Given the description of an element on the screen output the (x, y) to click on. 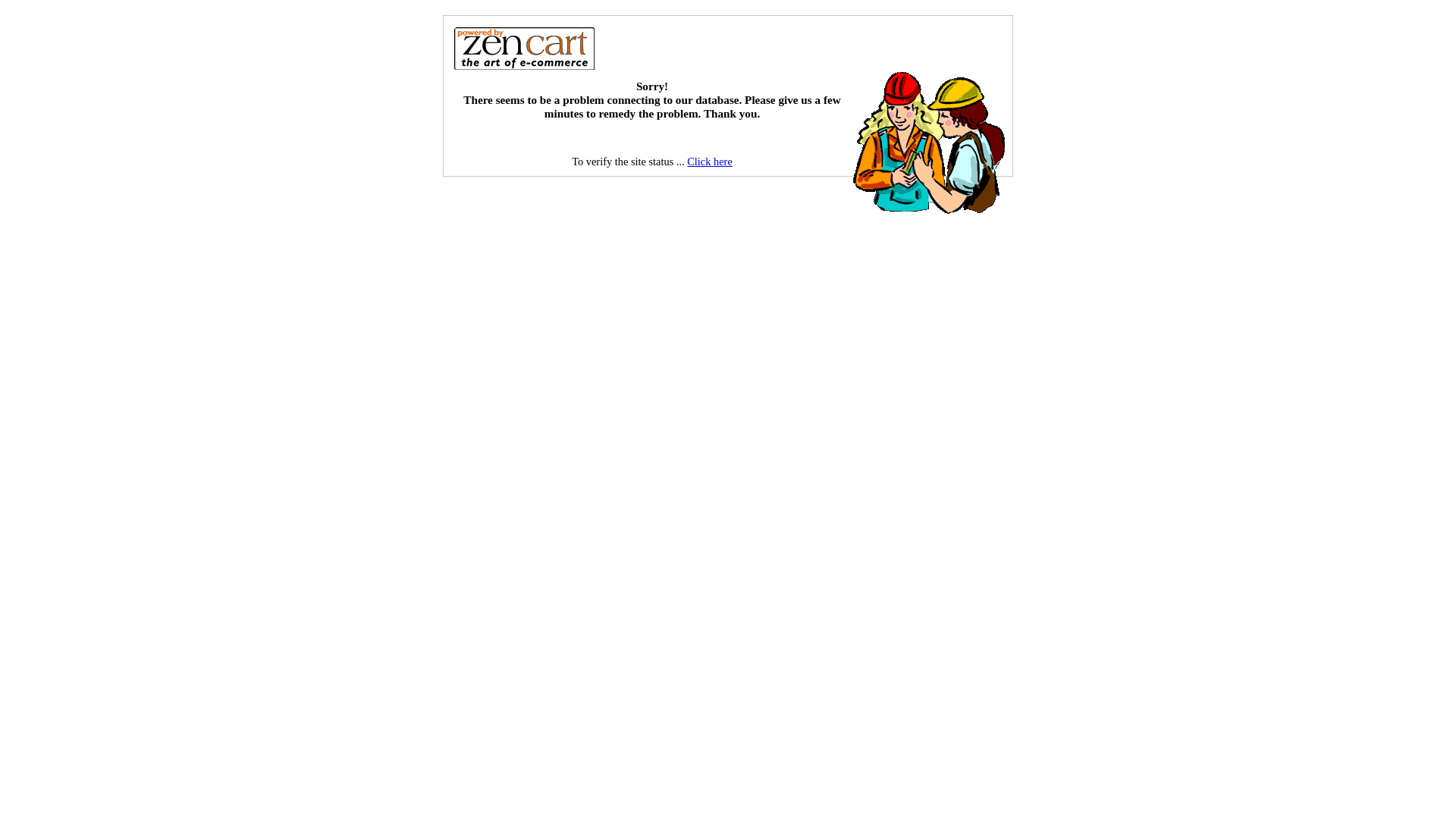
This Is my store logo. [home link] Element type: hover (523, 47)
Click here Element type: text (709, 161)
